Given the description of an element on the screen output the (x, y) to click on. 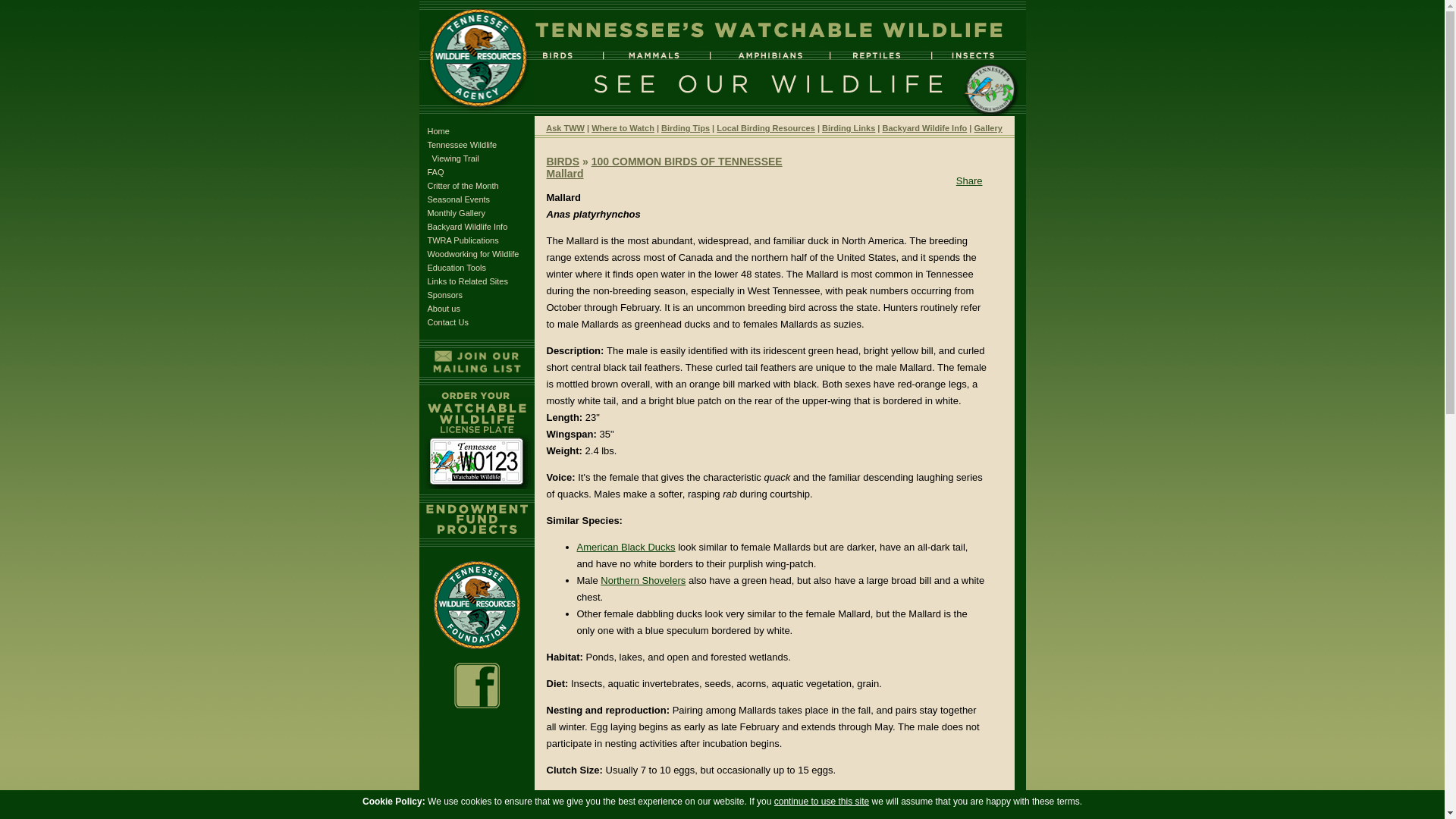
Where to Watch (622, 127)
Local Birding Resources (765, 127)
Backyard Wildlife Info (468, 225)
Woodworking for Wildlife (473, 253)
Critter of the Month (463, 185)
BIRDS (562, 161)
American Black Ducks (625, 546)
Northern Shovelers (642, 580)
Education Tools (457, 266)
Sponsors (445, 294)
Backyard Wildife Info (925, 127)
Share (969, 180)
FAQ (436, 171)
Home (438, 130)
